Given the description of an element on the screen output the (x, y) to click on. 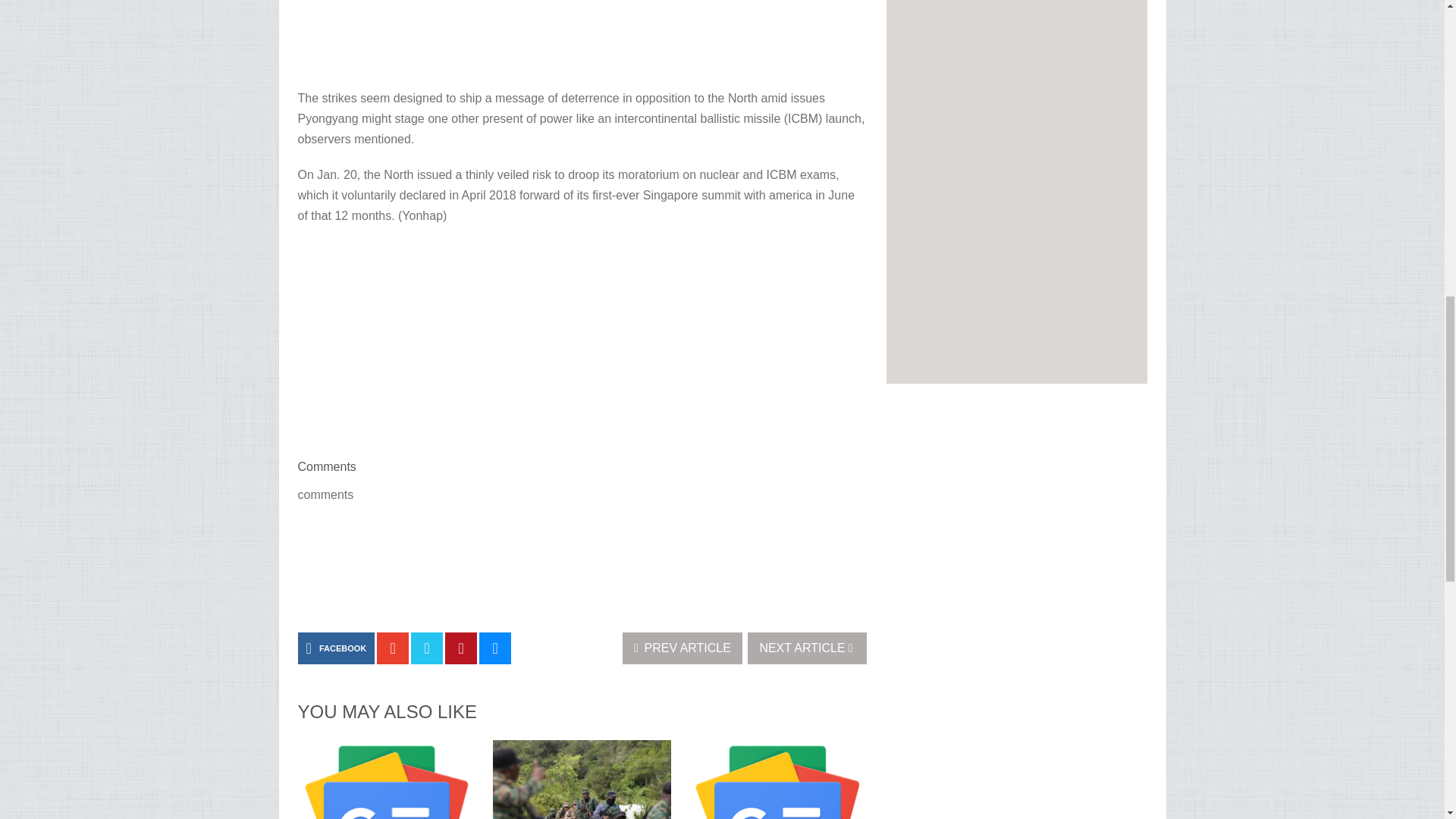
NEXT ARTICLE (807, 648)
FACEBOOK (335, 648)
PREV ARTICLE (682, 648)
